Given the description of an element on the screen output the (x, y) to click on. 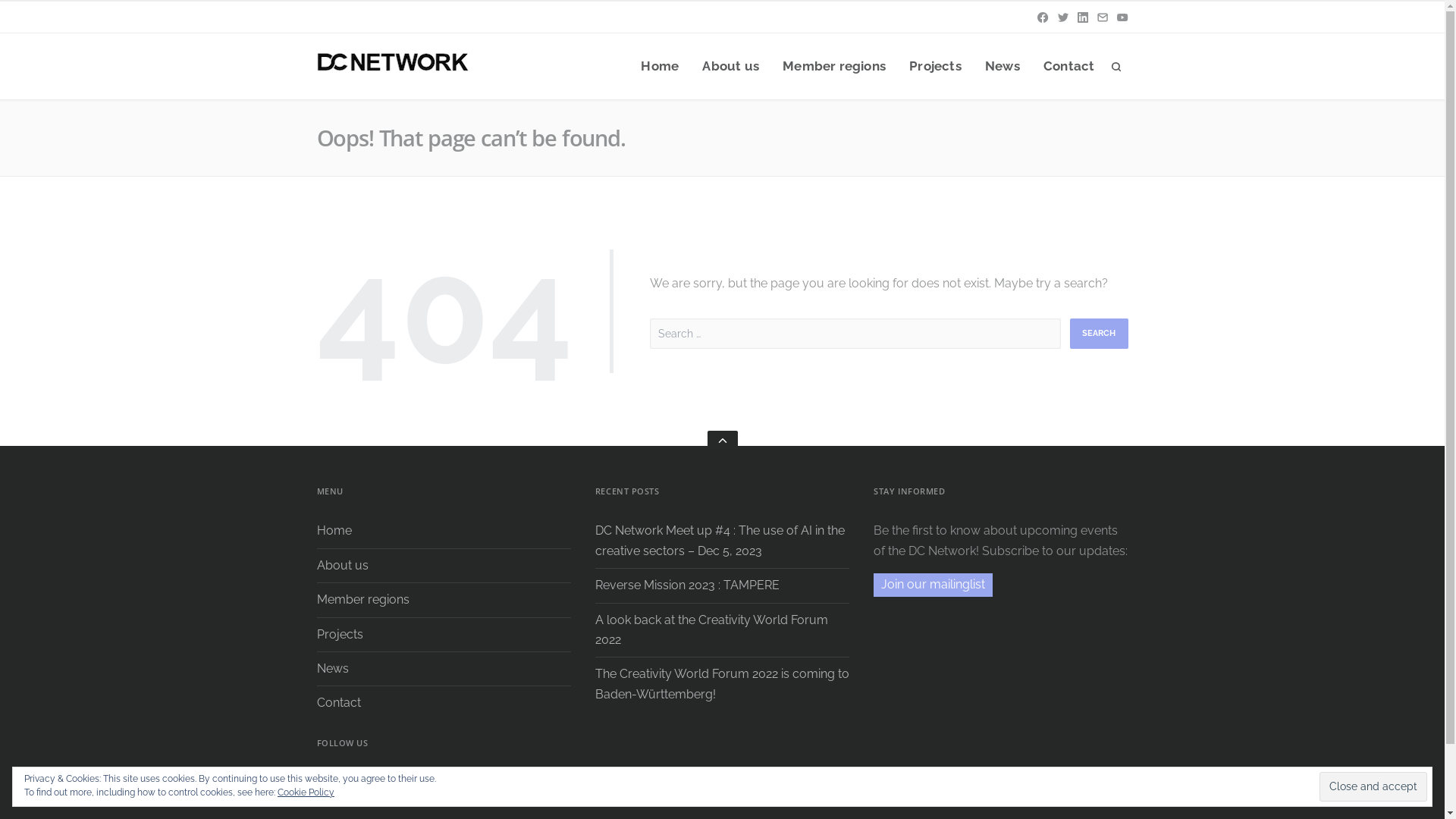
Home Element type: text (659, 66)
Close and accept Element type: text (1373, 786)
About us Element type: text (730, 66)
Contact Element type: text (338, 702)
YouTube Element type: text (1122, 16)
News Element type: text (332, 668)
OPEN A SEARCH BOX Element type: text (1115, 66)
Join our mailinglist Element type: text (932, 584)
info@districtsofcreativity.org Element type: text (1102, 16)
About us Element type: text (342, 565)
GO TO THE TOP Element type: text (721, 439)
News Element type: text (1002, 66)
LinkedIn Element type: text (1082, 16)
Home Element type: text (333, 530)
YouTube Element type: text (383, 784)
Cookie Policy Element type: text (305, 792)
Search Element type: text (1098, 333)
Projects Element type: text (935, 66)
Twitter Element type: text (356, 784)
Member regions Element type: text (362, 599)
Reverse Mission 2023 : TAMPERE  Element type: text (688, 584)
A look back at the Creativity World Forum 2022 Element type: text (711, 629)
RSS Feed Element type: text (410, 784)
Twitter Element type: text (1062, 16)
Facebook Element type: text (328, 784)
Contact Element type: text (1068, 66)
Facebook Element type: text (1042, 16)
Member regions Element type: text (833, 66)
Projects Element type: text (339, 634)
